Given the description of an element on the screen output the (x, y) to click on. 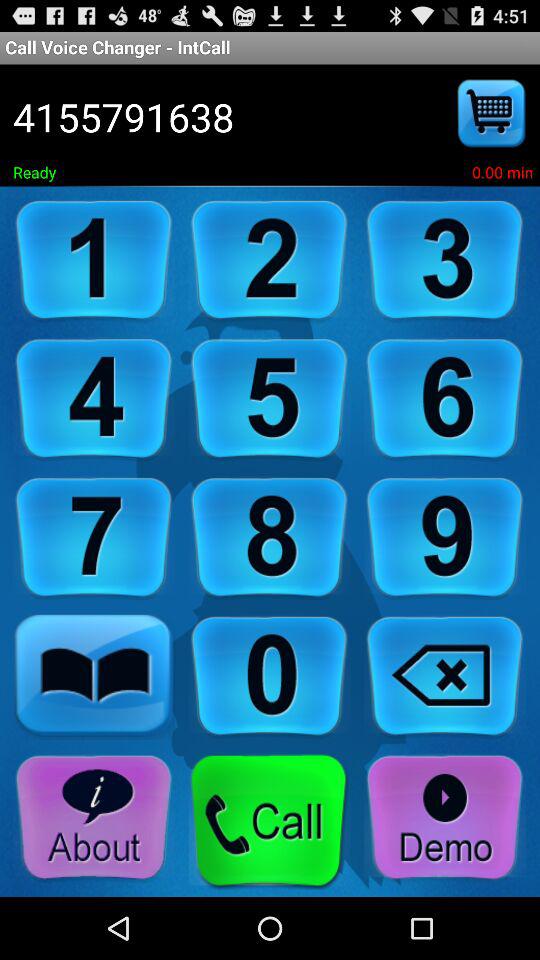
four (94, 399)
